Given the description of an element on the screen output the (x, y) to click on. 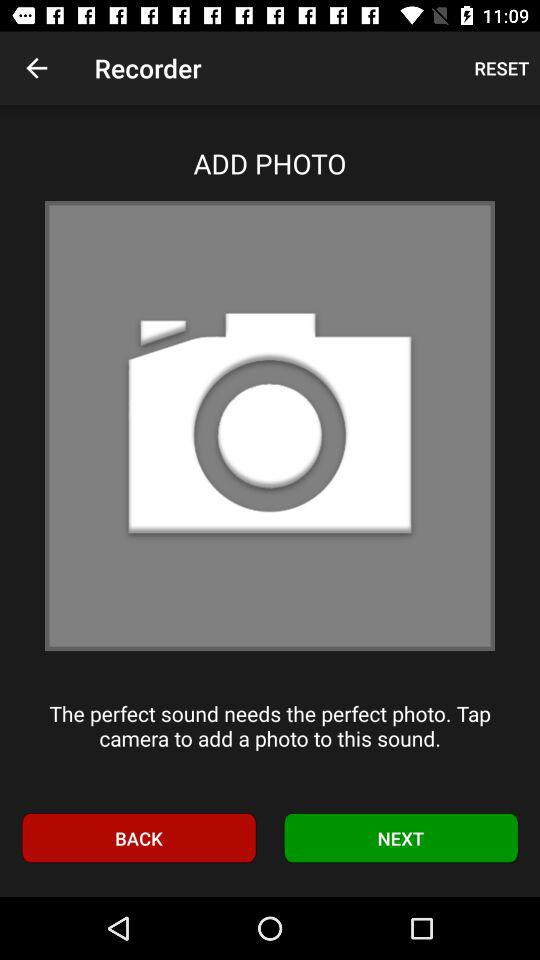
choose icon at the center (270, 425)
